Given the description of an element on the screen output the (x, y) to click on. 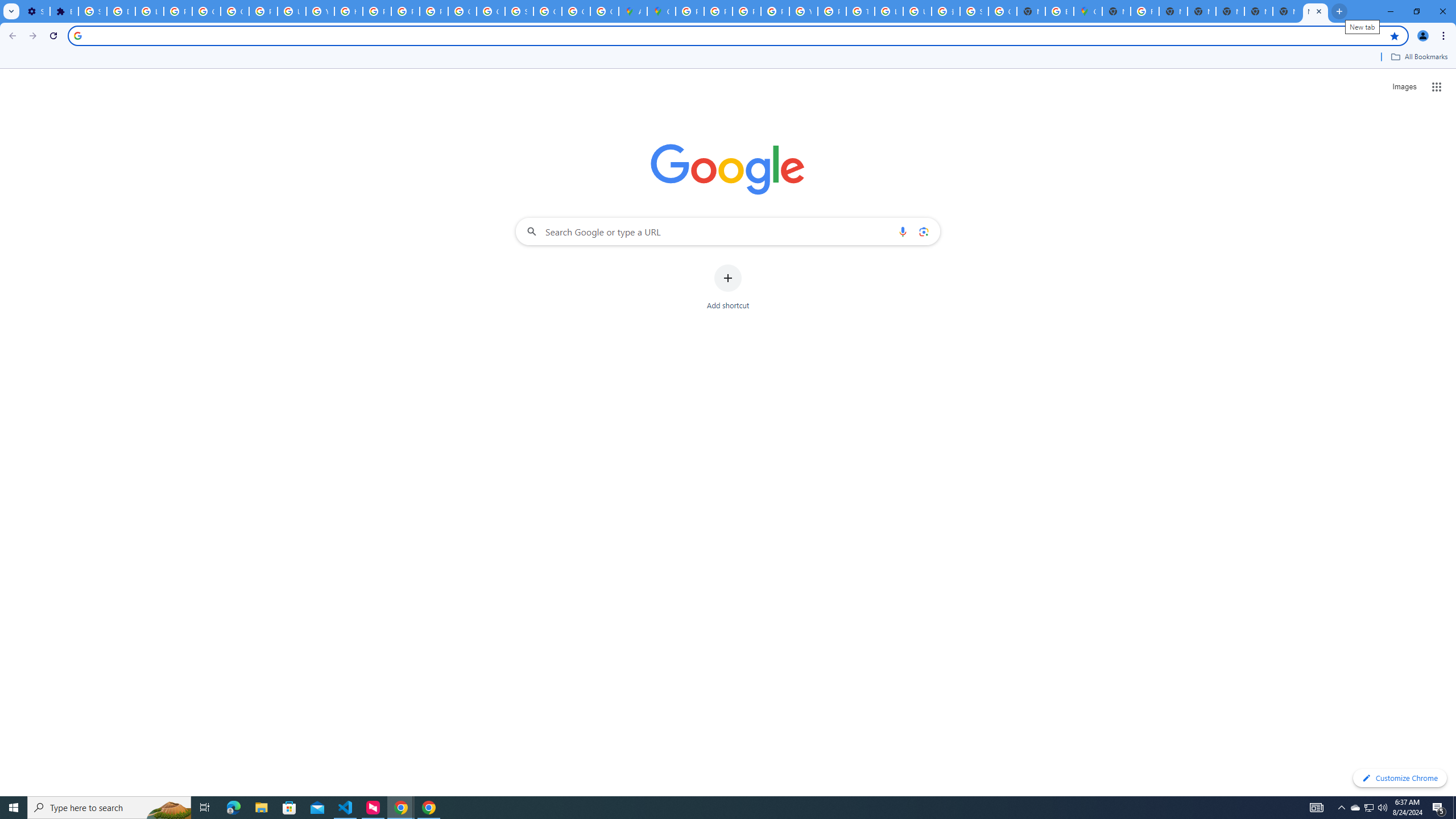
Settings - On startup (35, 11)
Privacy Help Center - Policies Help (718, 11)
Search by image (922, 230)
New Tab (1315, 11)
Google Maps (661, 11)
Privacy Help Center - Policies Help (746, 11)
Add shortcut (727, 287)
